Given the description of an element on the screen output the (x, y) to click on. 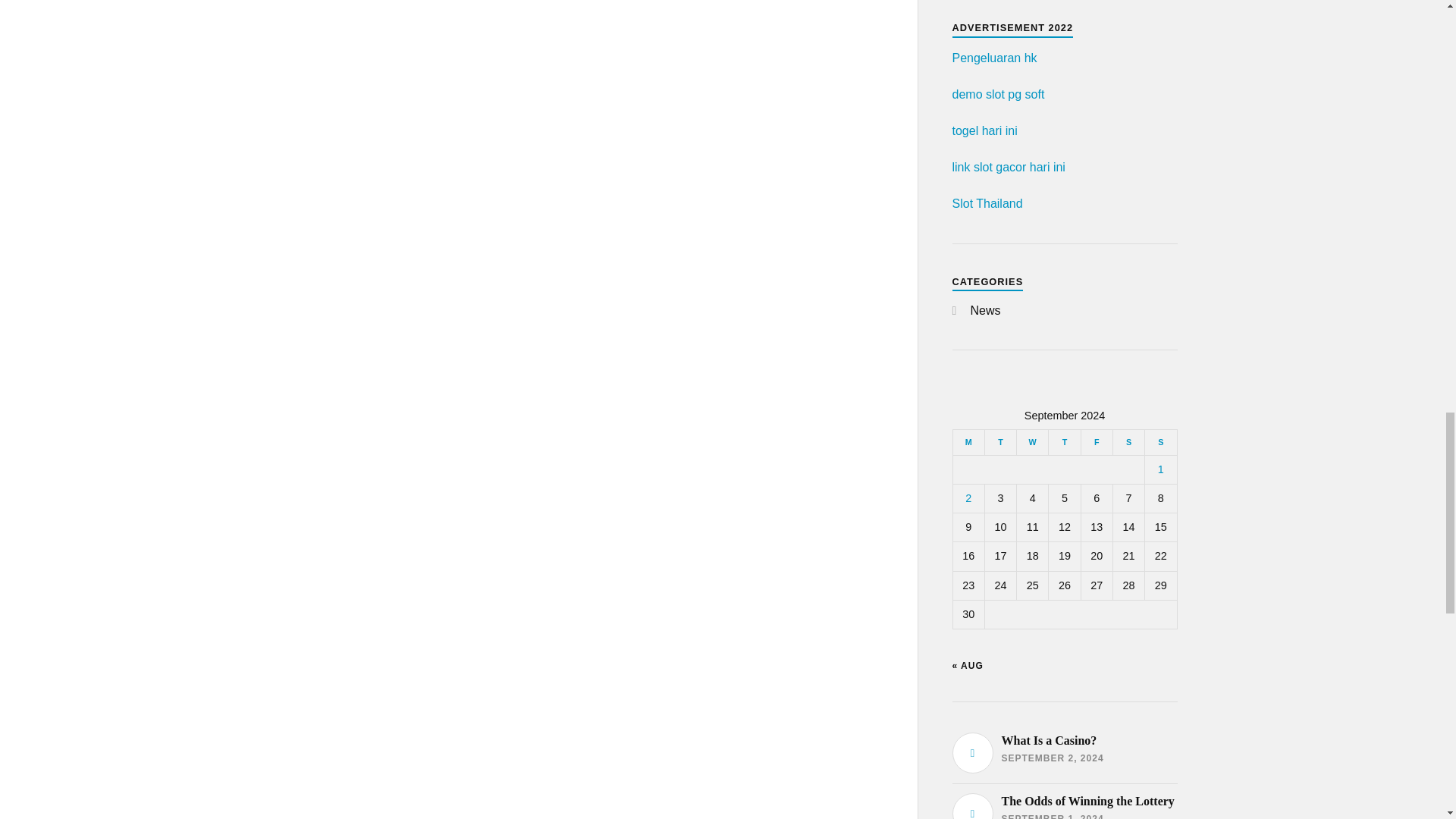
Saturday (1128, 442)
Monday (968, 442)
Thursday (1064, 442)
Wednesday (1032, 442)
Tuesday (1000, 442)
Sunday (1160, 442)
Friday (1096, 442)
